Given the description of an element on the screen output the (x, y) to click on. 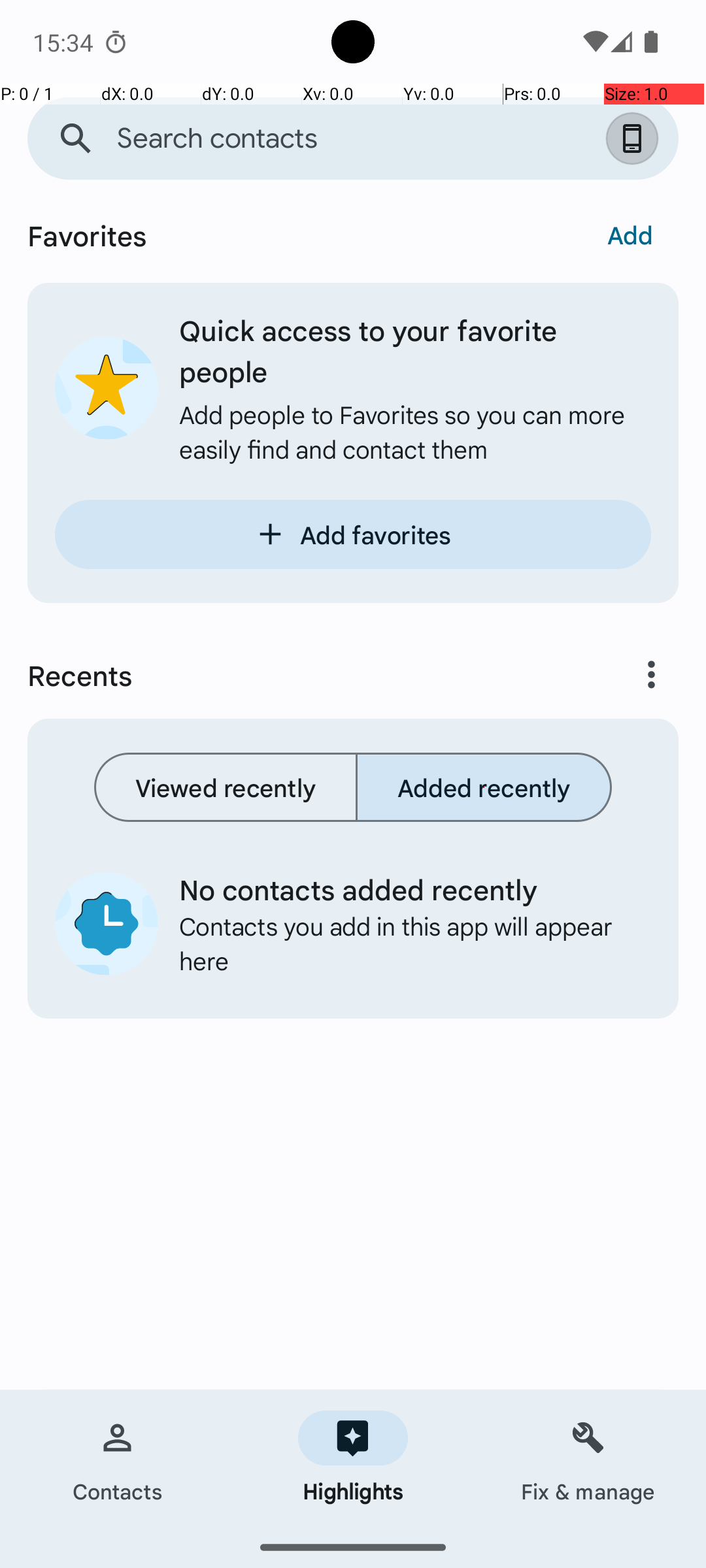
Quick access to your favorite people Element type: android.widget.TextView (415, 350)
Add people to Favorites so you can more easily find and contact them Element type: android.widget.TextView (415, 431)
Add favorites Element type: android.widget.Button (352, 534)
No contacts added recently Element type: android.widget.TextView (404, 888)
Contacts you add in this app will appear here Element type: android.widget.TextView (404, 942)
Viewed recently Element type: android.widget.CompoundButton (225, 787)
Added recently Element type: android.widget.CompoundButton (483, 787)
